Given the description of an element on the screen output the (x, y) to click on. 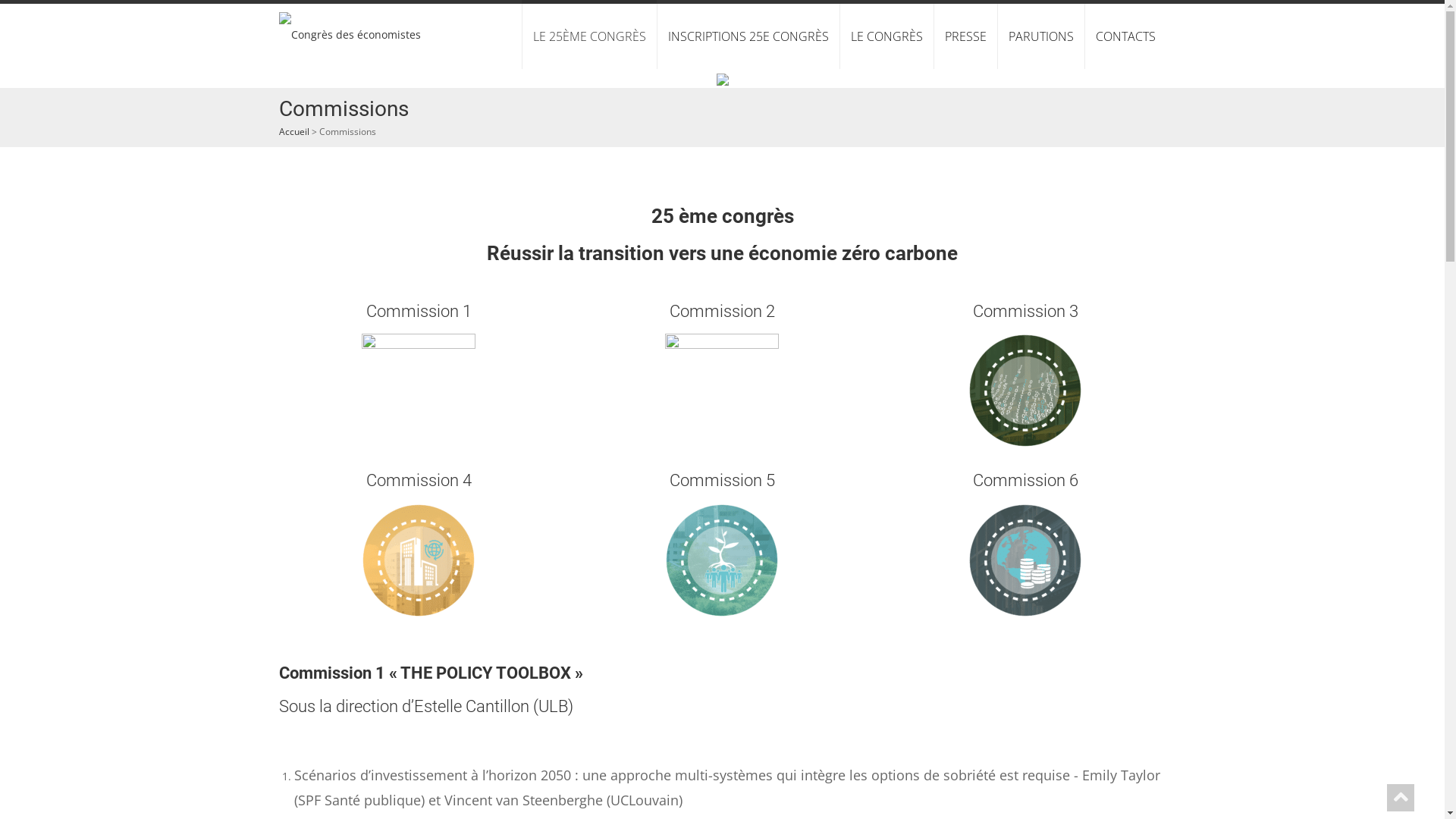
Accueil Element type: text (294, 131)
Commission 3 Element type: hover (1025, 390)
Commission 1 Element type: hover (418, 390)
Commission 4 Element type: hover (418, 560)
Commission 2 Element type: hover (721, 390)
PARUTIONS Element type: text (1039, 36)
Commission 6 Element type: hover (1025, 560)
Commission 5 Element type: hover (721, 560)
PRESSE Element type: text (964, 36)
CONTACTS Element type: text (1125, 36)
